Given the description of an element on the screen output the (x, y) to click on. 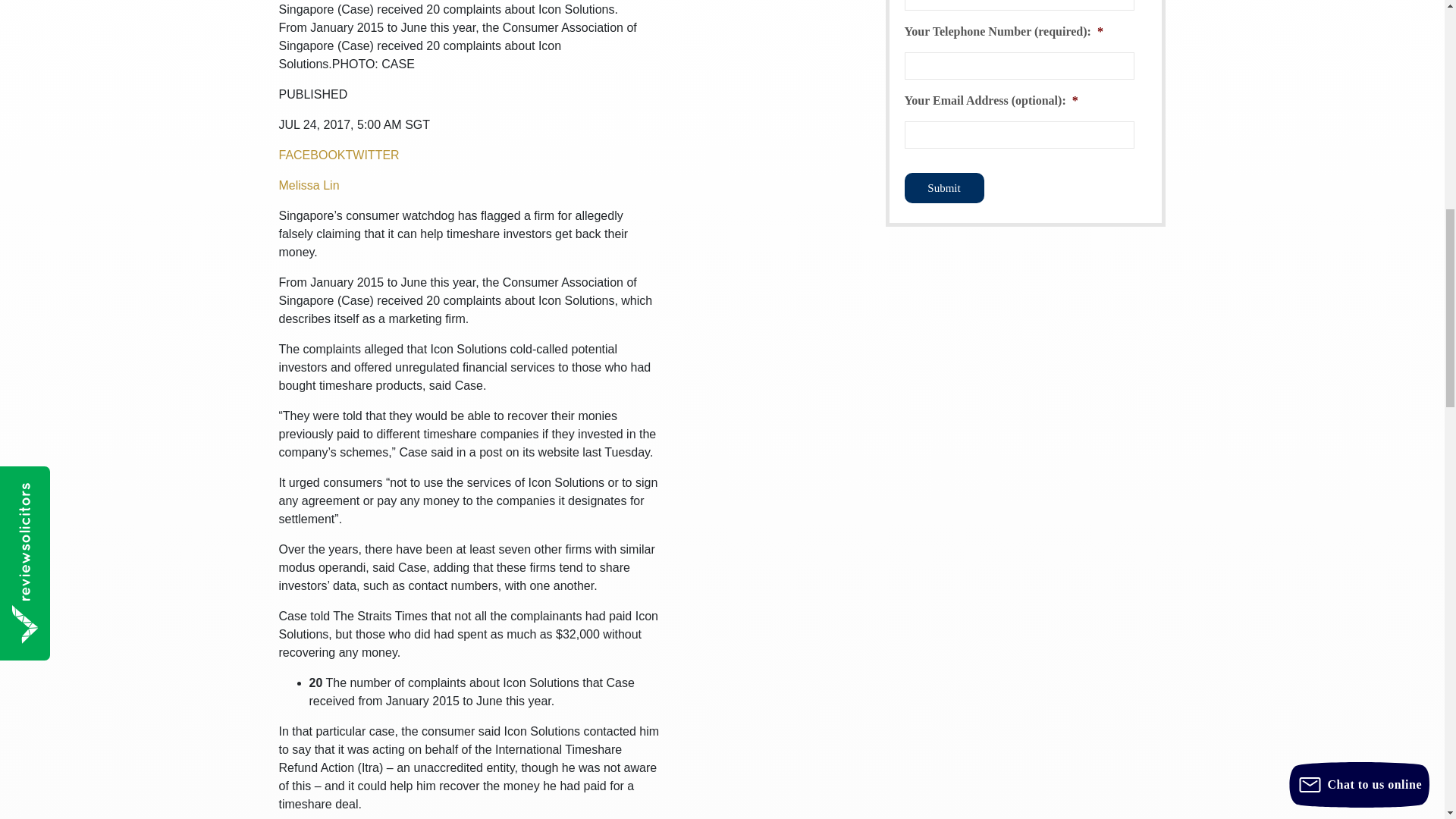
Submit (944, 187)
